Given the description of an element on the screen output the (x, y) to click on. 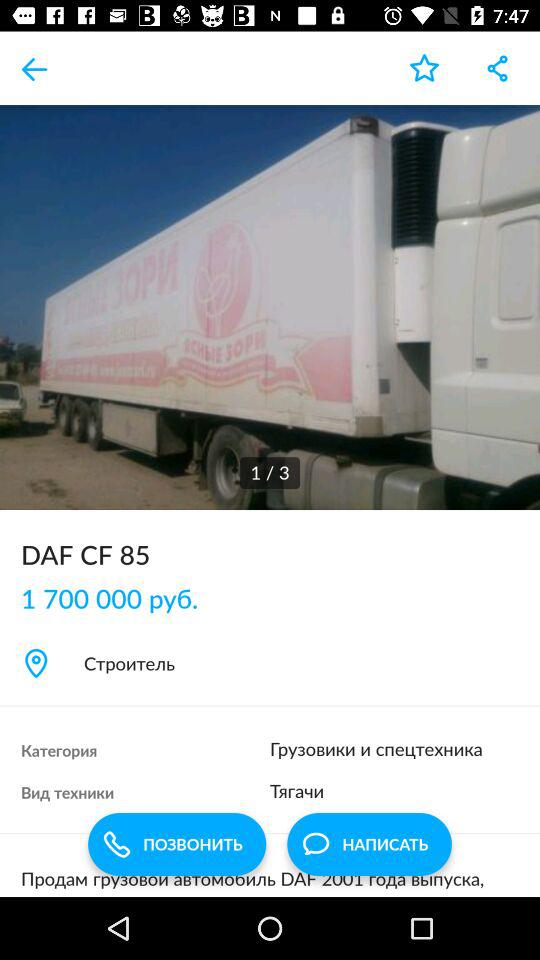
swipe to the 1 700 000 item (120, 598)
